Given the description of an element on the screen output the (x, y) to click on. 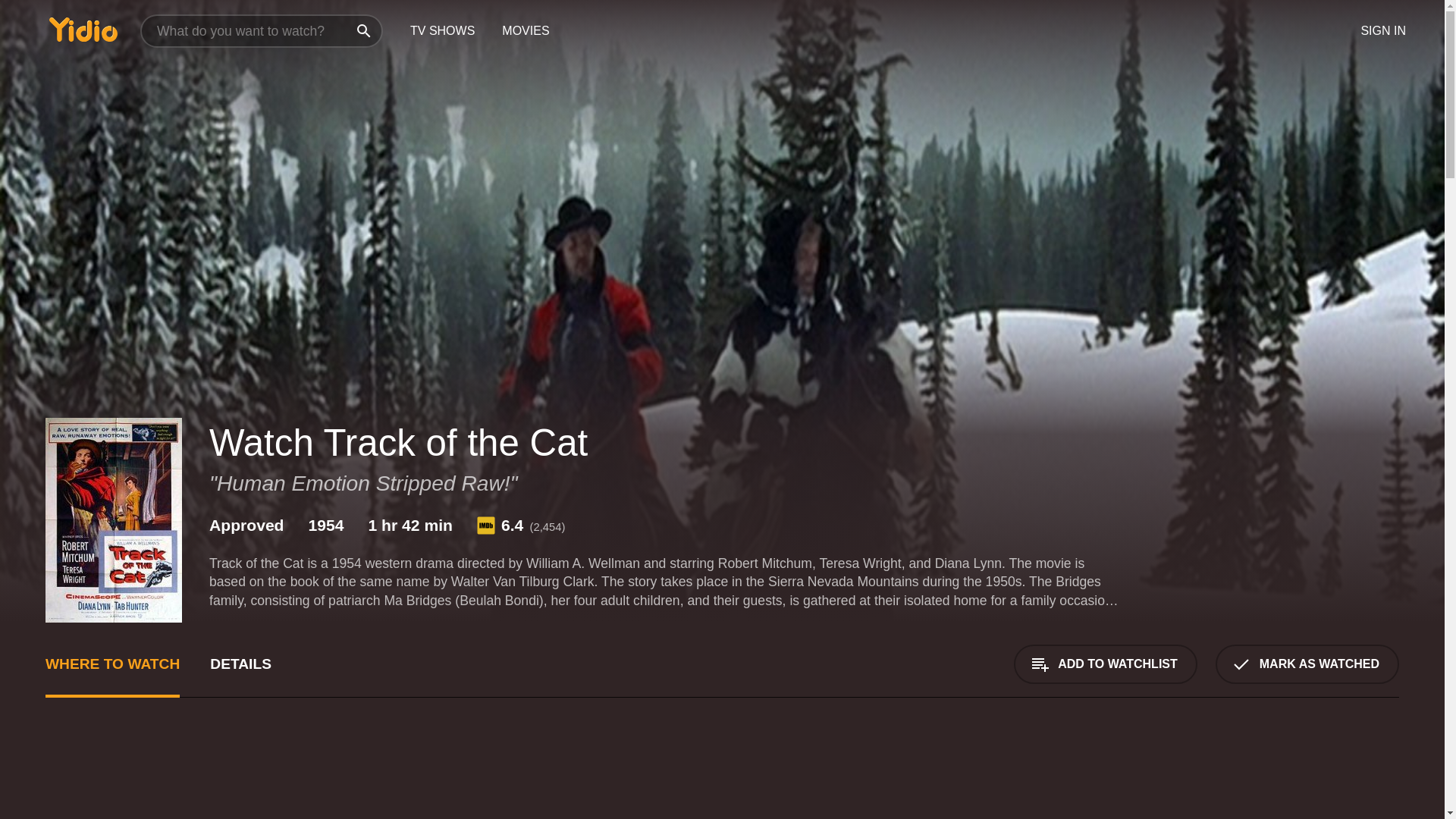
Advertisement (500, 776)
MARK AS WATCHED (1307, 663)
ADD TO WATCHLIST (1104, 663)
MOVIES (524, 31)
TV SHOWS (441, 31)
Yidio (82, 29)
Advertisement (1285, 776)
